Given the description of an element on the screen output the (x, y) to click on. 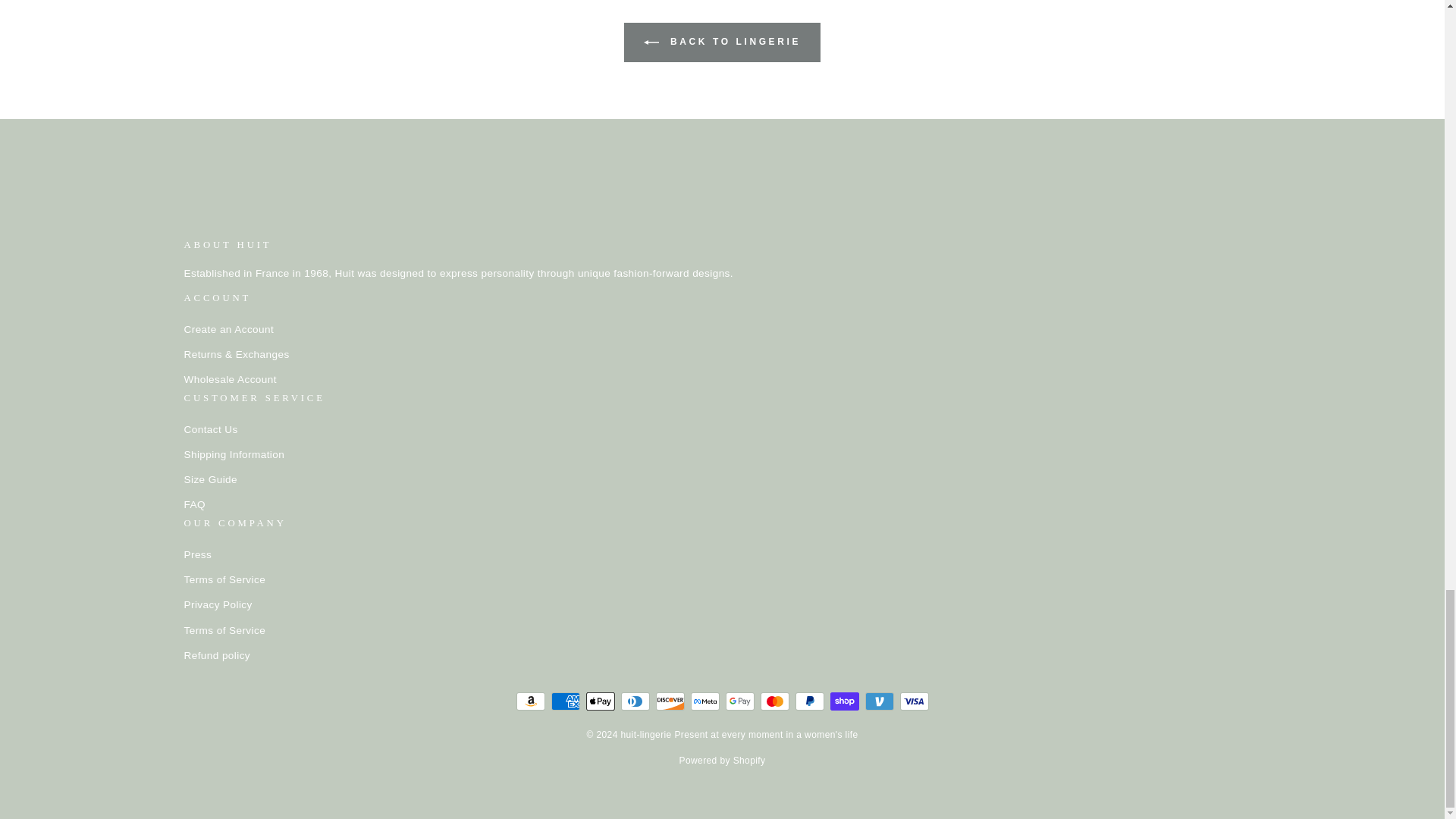
Diners Club (634, 701)
ICON-LEFT-ARROW (651, 42)
American Express (564, 701)
Apple Pay (599, 701)
Discover (669, 701)
Amazon (529, 701)
Meta Pay (704, 701)
